Given the description of an element on the screen output the (x, y) to click on. 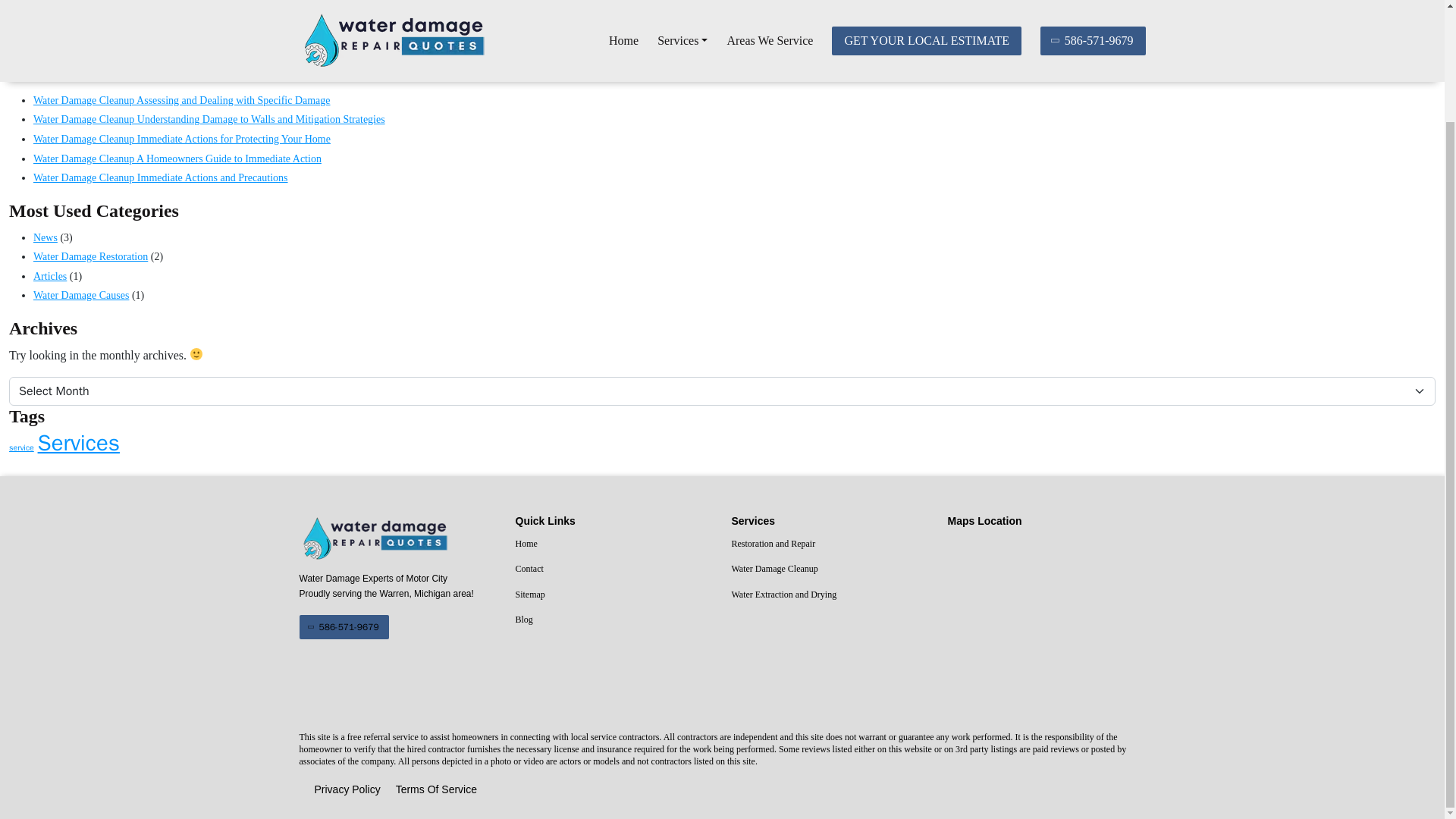
Sitemap (614, 595)
service (20, 447)
Home (614, 544)
Water Damage Cleanup Immediate Actions and Precautions (160, 177)
Water Damage Cleanup A Homeowners Guide to Immediate Action (177, 158)
Services (78, 443)
Water Damage Cleanup (829, 569)
Articles (49, 276)
Search (1406, 48)
News (45, 237)
Blog (614, 619)
Contact (614, 569)
Restoration and Repair (829, 544)
Search (1406, 48)
